Given the description of an element on the screen output the (x, y) to click on. 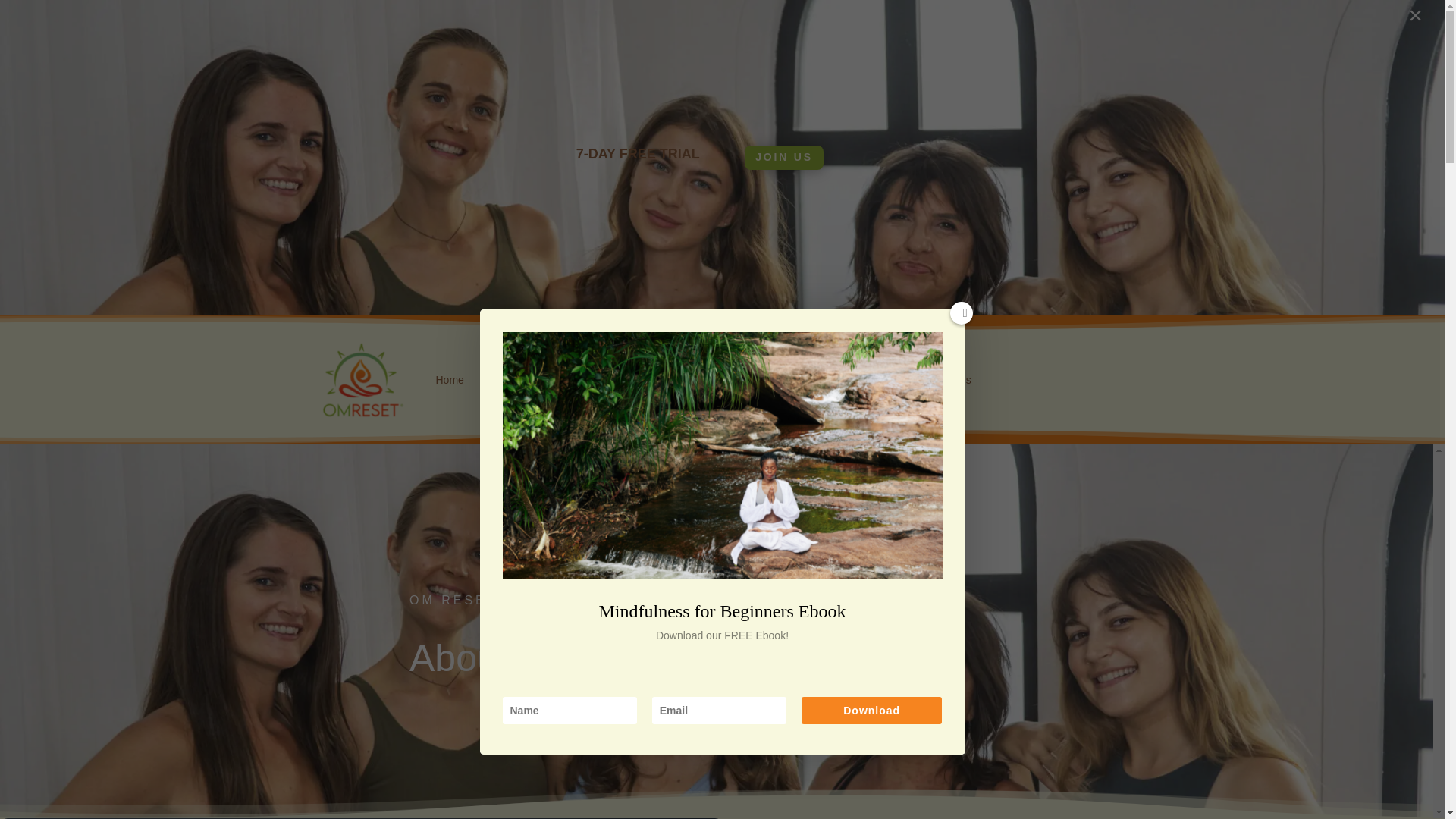
Blog (884, 379)
About Us (502, 379)
Services (708, 379)
Pricing (556, 379)
Class Schedule (626, 379)
Home (449, 379)
Contact Us (944, 379)
Workplace Wellness (800, 379)
